Given the description of an element on the screen output the (x, y) to click on. 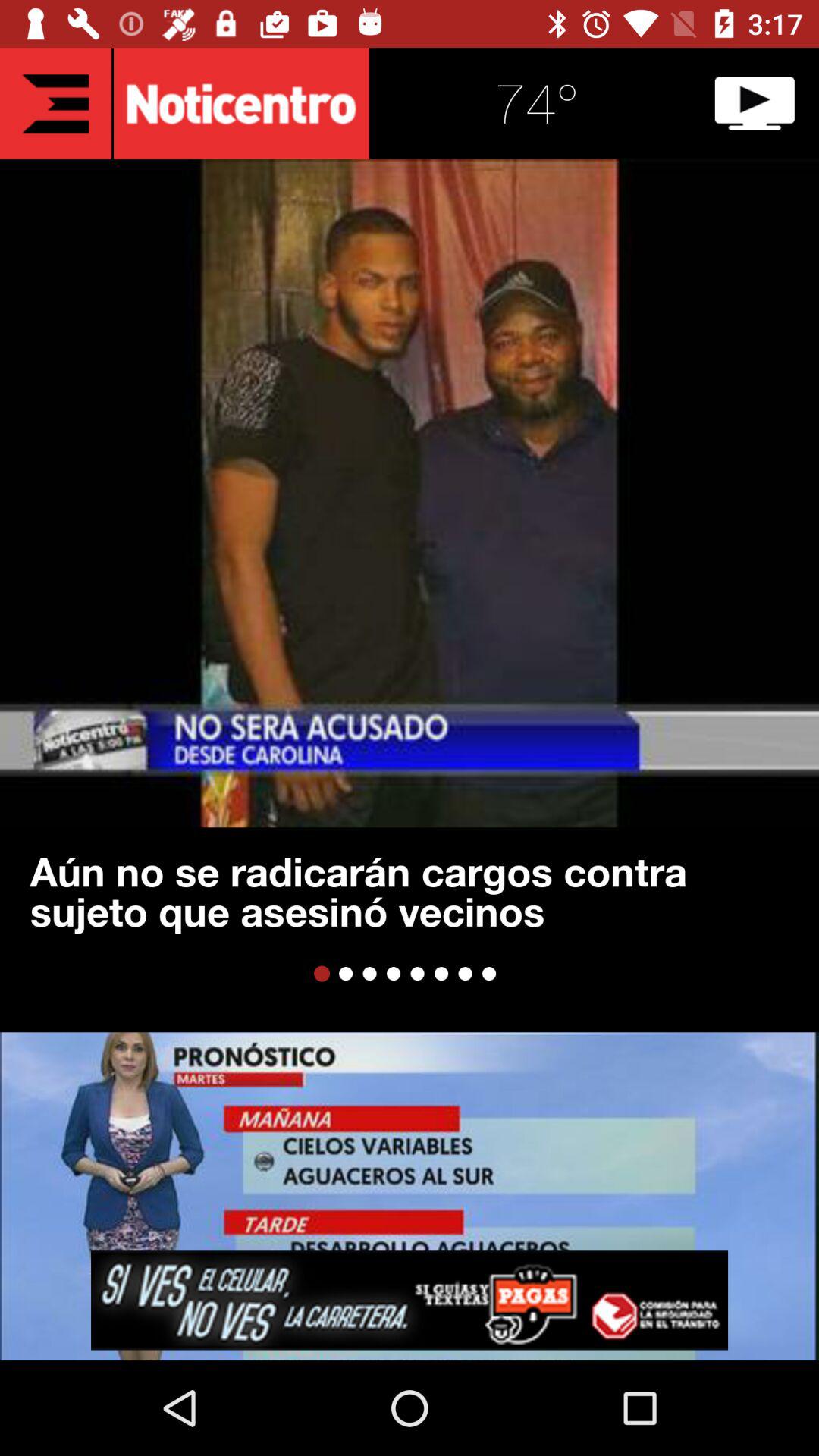
go to advertisement page (409, 1300)
